Given the description of an element on the screen output the (x, y) to click on. 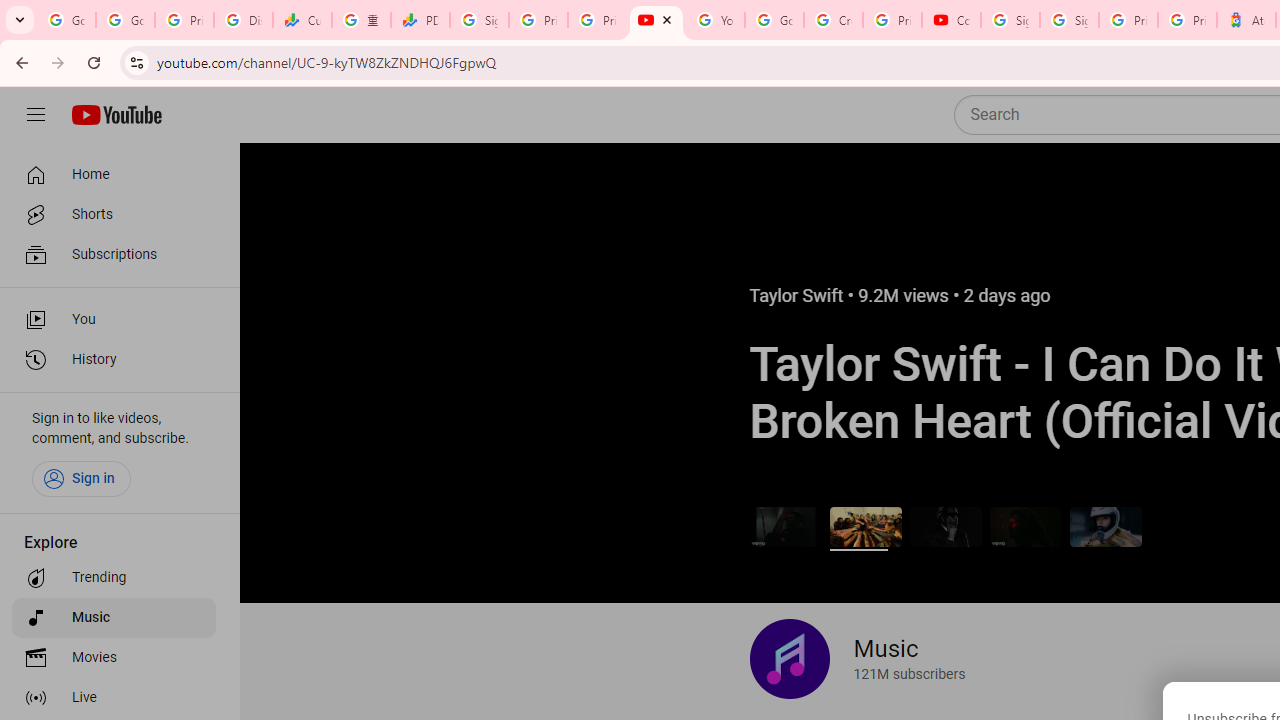
Privacy Checkup (597, 20)
Google Workspace Admin Community (66, 20)
A$AP Rocky - HIGHJACK (Official Video) (944, 526)
Create your Google Account (832, 20)
Hozier - Nobody's Soldier (Official Video) (1025, 526)
Trending (113, 578)
A$AP Rocky - HIGHJACK (Official Video) (944, 526)
